Given the description of an element on the screen output the (x, y) to click on. 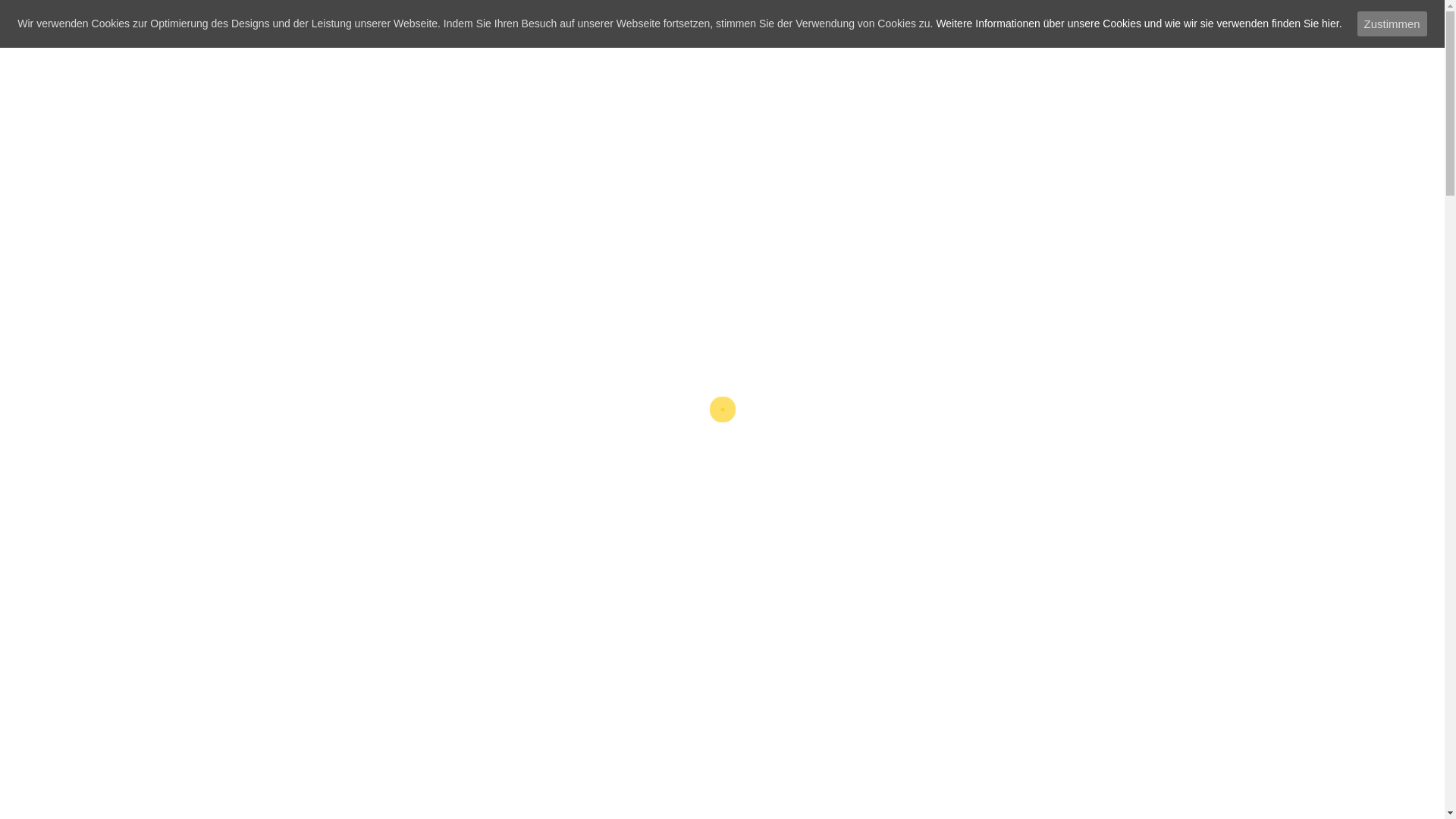
IMPRESSUM (846, 305)
ABOUT US (580, 305)
CONTACT (658, 305)
SERVICES (413, 305)
Facebook (337, 82)
DOWNLOADS (1080, 305)
English (391, 100)
HOME (338, 305)
PROJECTS (499, 305)
CERTIFICATES (745, 305)
